Given the description of an element on the screen output the (x, y) to click on. 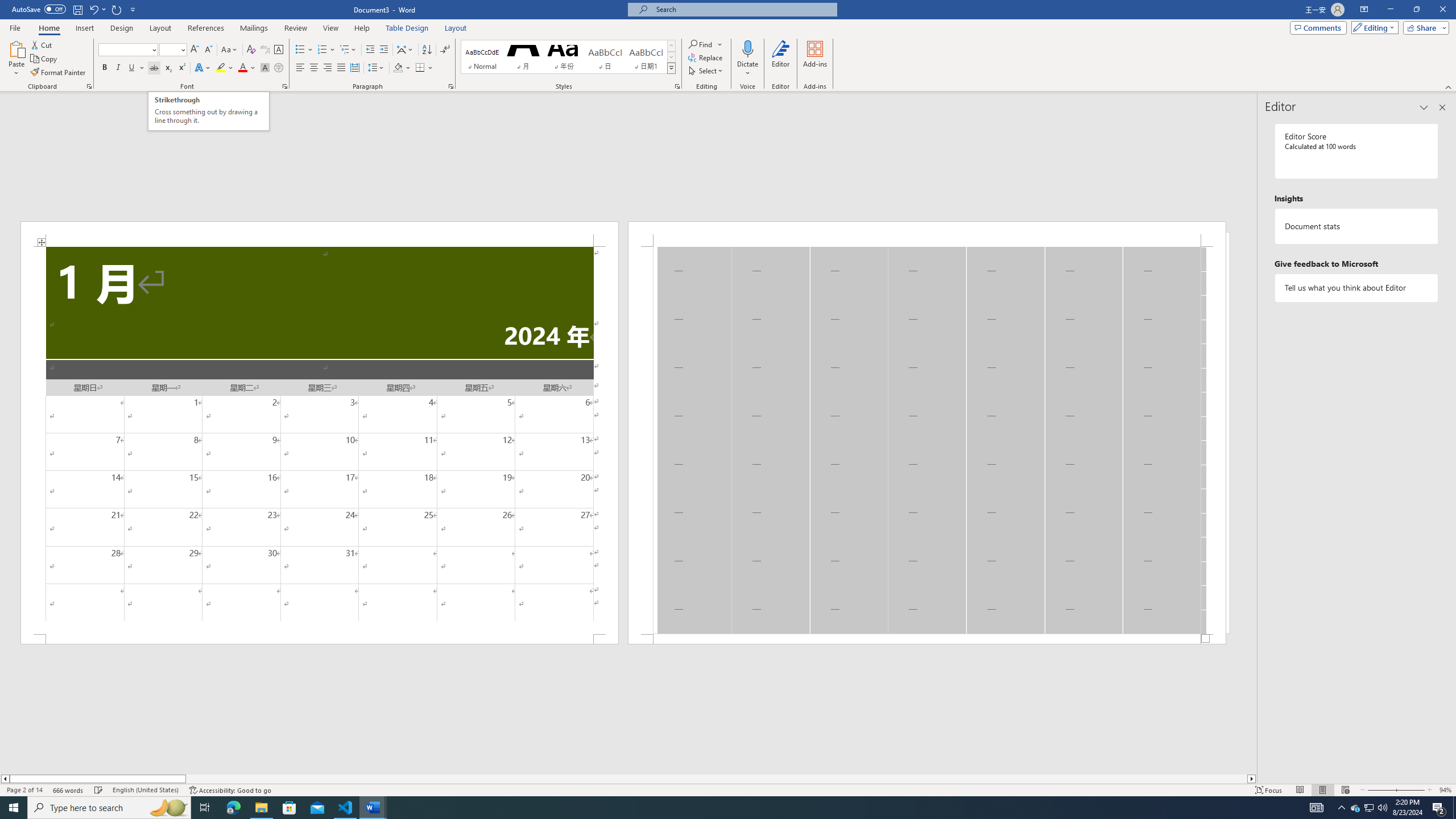
Column left (5, 778)
